Given the description of an element on the screen output the (x, y) to click on. 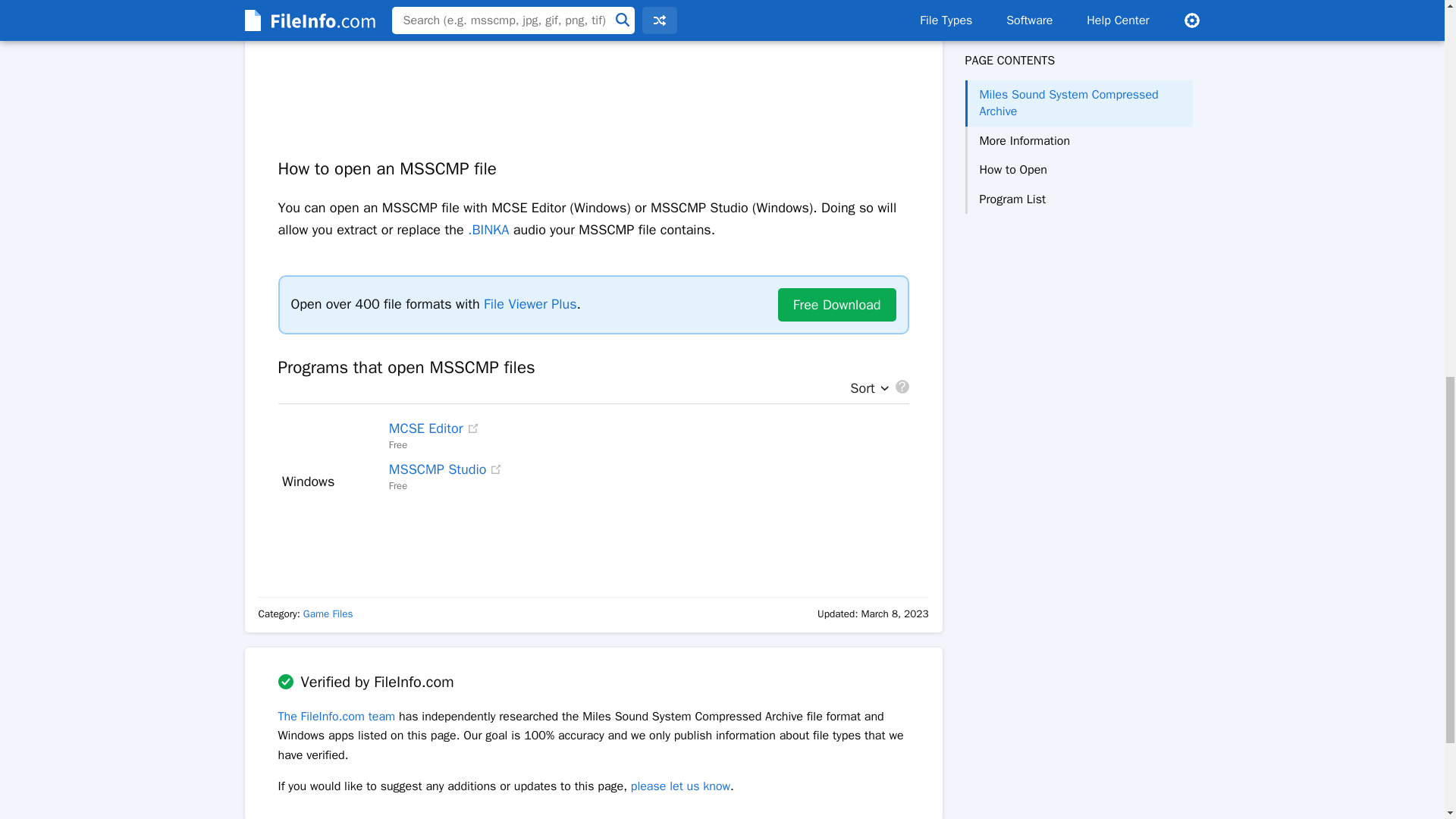
MSSCMP Studio (437, 469)
Game Files (327, 613)
please let us know (680, 785)
The FileInfo.com team (336, 716)
.BINKA (487, 229)
Sort (865, 388)
MCSE Editor (425, 428)
